Given the description of an element on the screen output the (x, y) to click on. 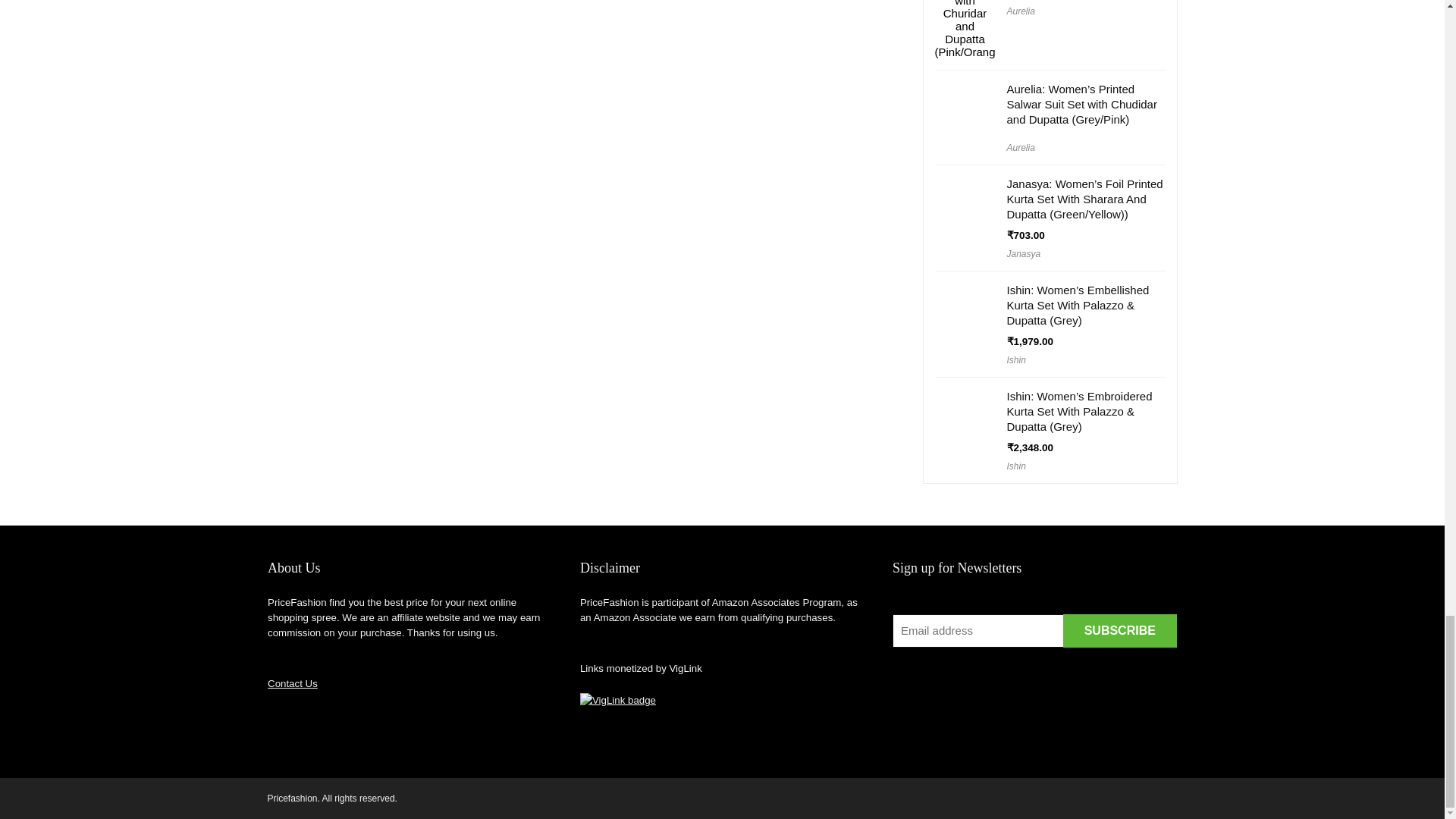
Subscribe (1119, 630)
Links monetized by VigLink (617, 700)
